Given the description of an element on the screen output the (x, y) to click on. 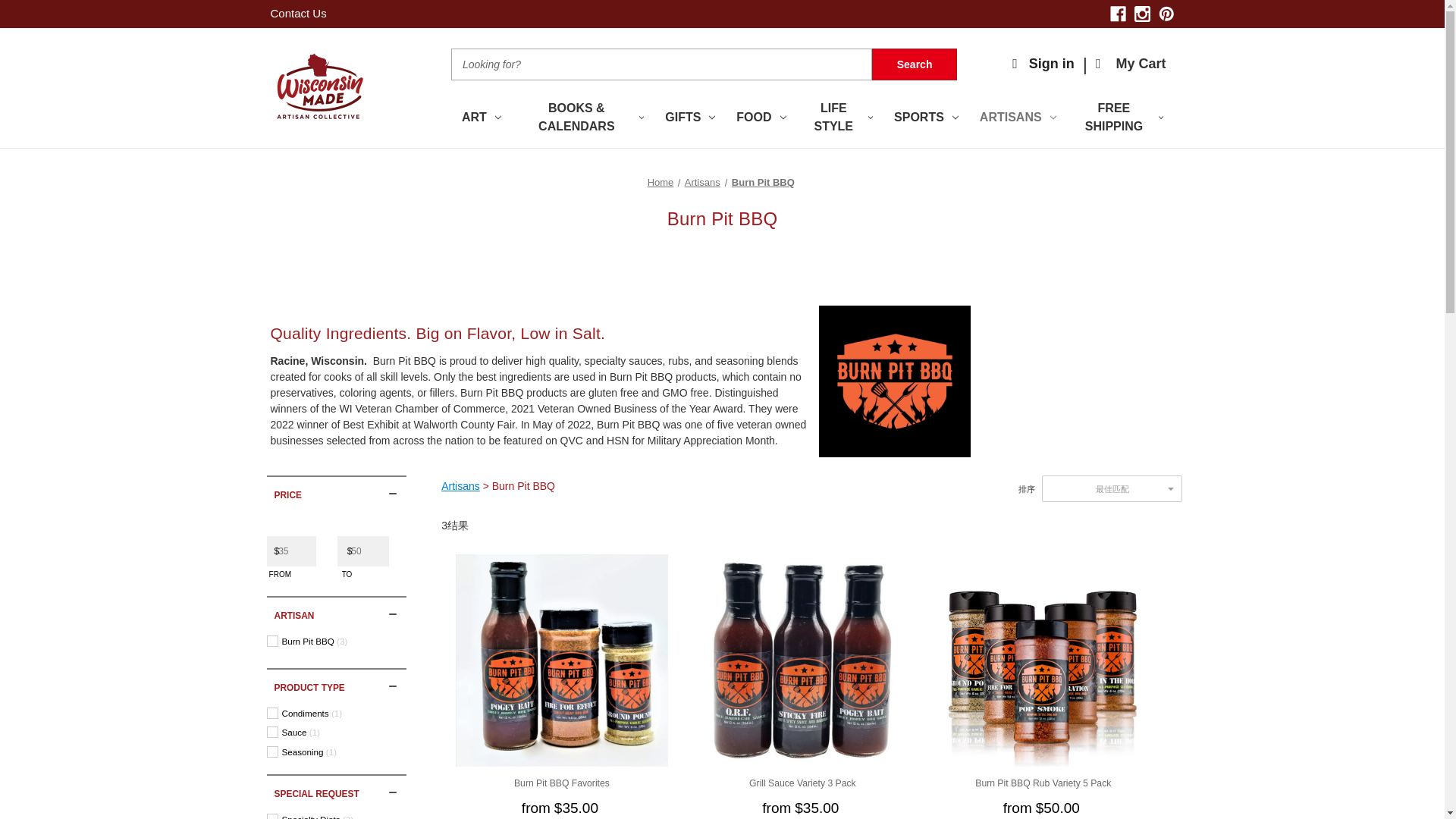
WisconsinMade Artisan Collective (318, 87)
My Cart (1130, 64)
burn-pit-bbq-logo.jpg (894, 381)
Product Type (336, 684)
Artisan (336, 612)
ART (481, 118)
FOOD (760, 118)
Facebook (1117, 13)
Burn Pit BBQ (322, 641)
Sign in (1043, 64)
Instagram (1142, 13)
Search (915, 64)
Burn Pit BBQ (333, 640)
Price (336, 492)
3 (340, 641)
